Given the description of an element on the screen output the (x, y) to click on. 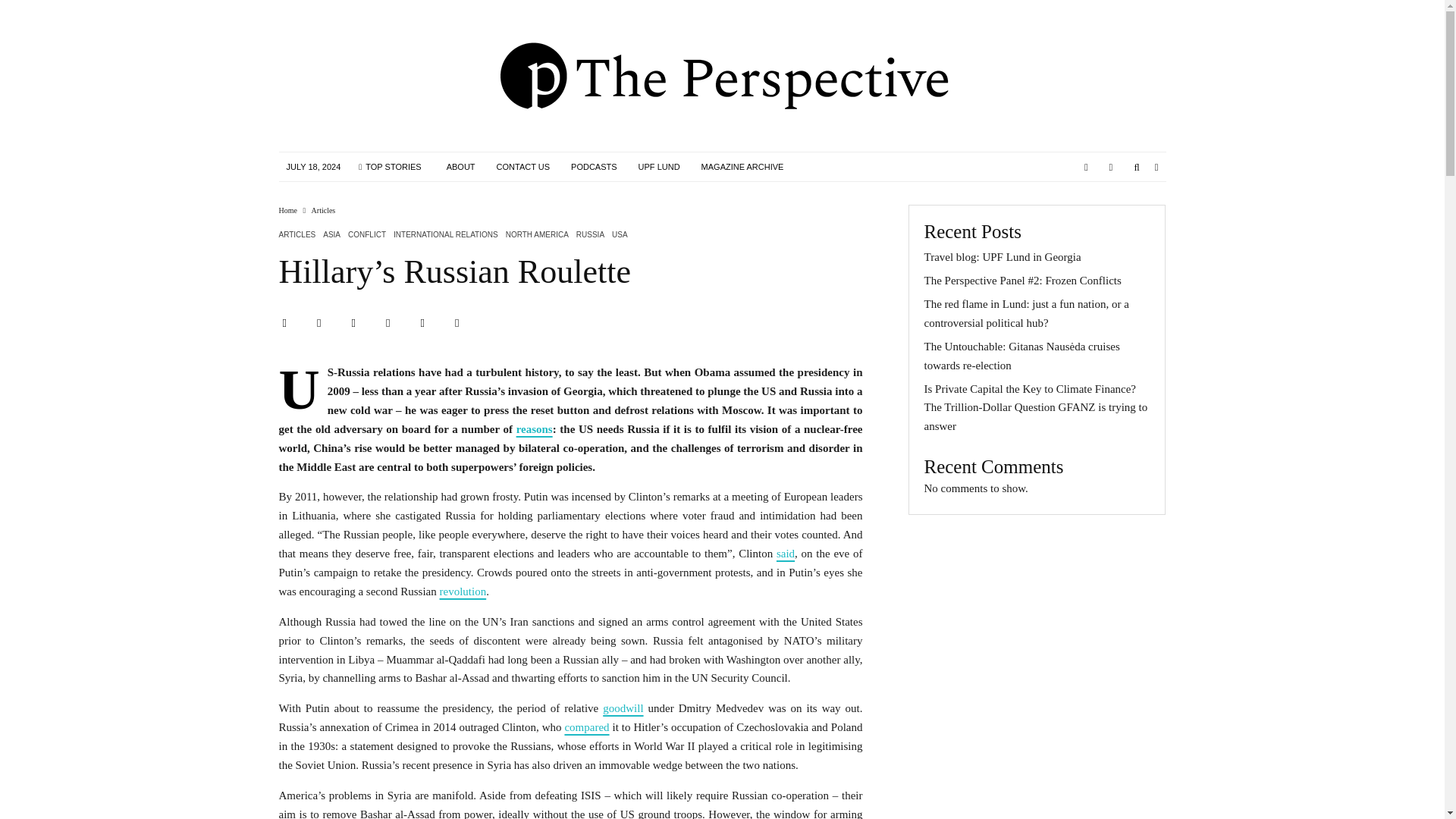
MAGAZINE ARCHIVE (742, 166)
ARTICLES (297, 235)
Articles (323, 210)
RUSSIA (590, 235)
NORTH AMERICA (537, 235)
ASIA (331, 235)
CONTACT US (523, 166)
INTERNATIONAL RELATIONS (445, 235)
Home (288, 210)
ABOUT (460, 166)
PODCASTS (593, 166)
CONFLICT (366, 235)
UPF LUND (658, 166)
TOP STORIES (388, 166)
USA (619, 235)
